Given the description of an element on the screen output the (x, y) to click on. 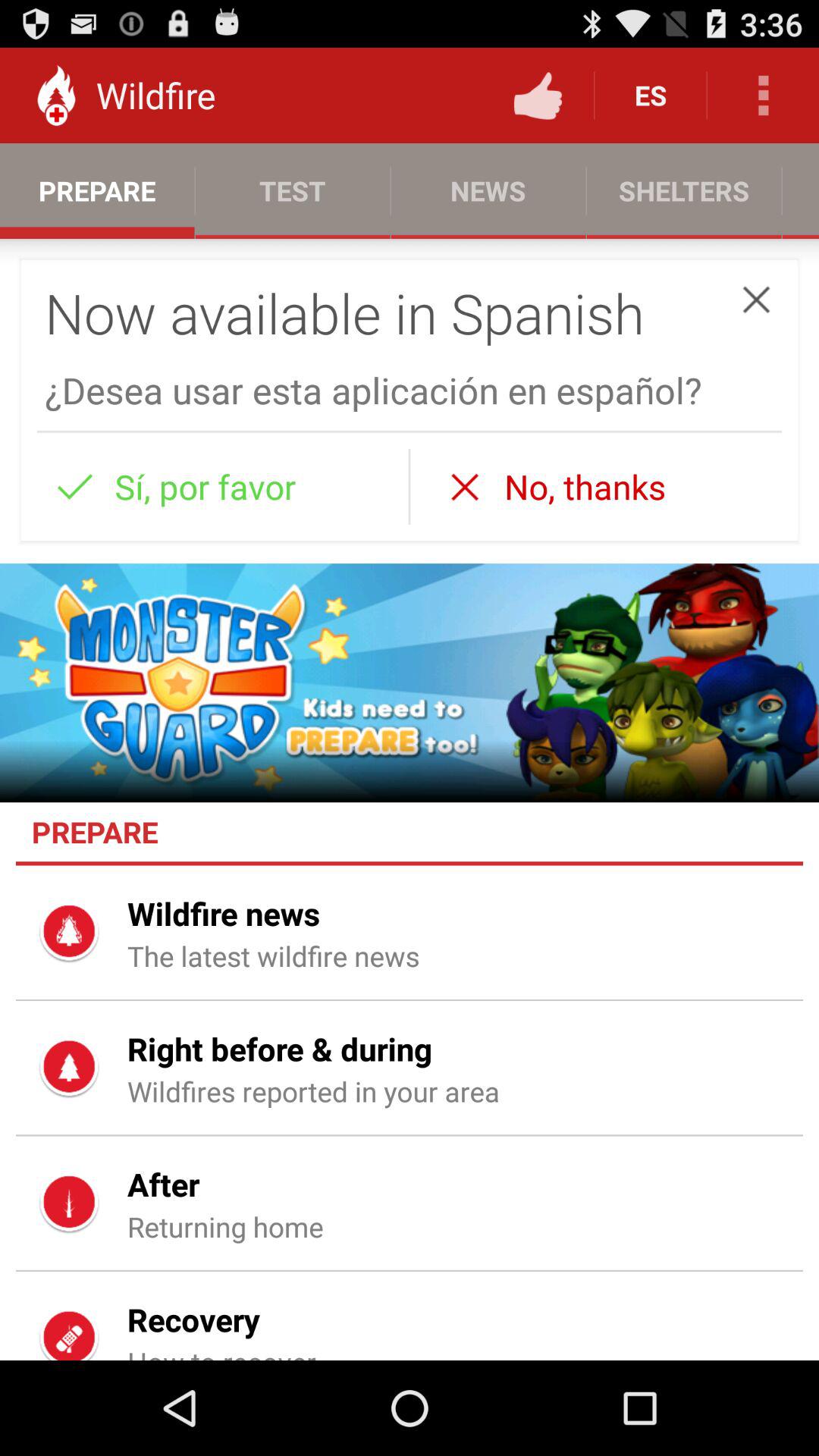
press the icon next to the es item (537, 95)
